Given the description of an element on the screen output the (x, y) to click on. 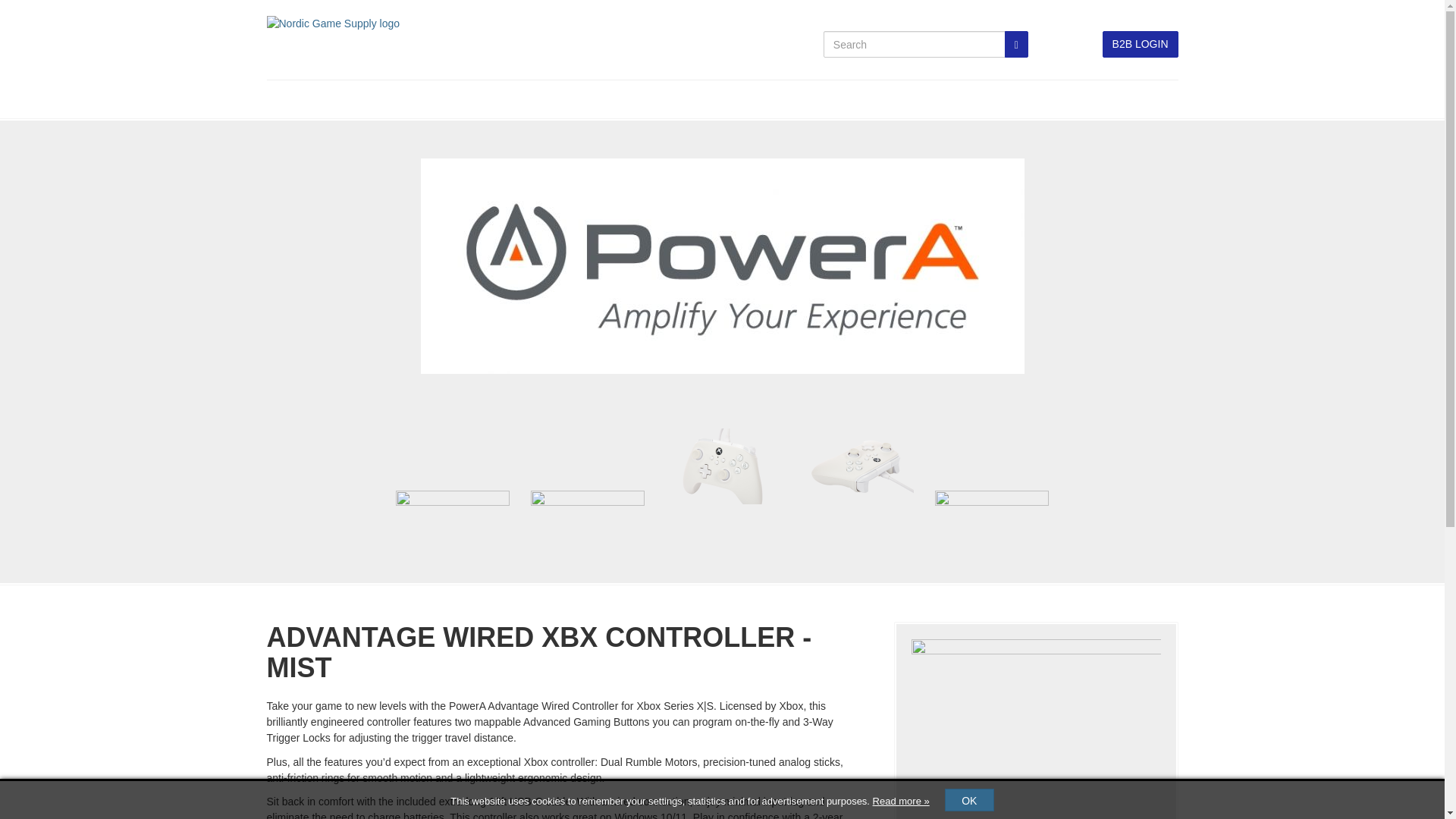
Home (281, 99)
Follow Nordic Game Supply on Facebook (1081, 43)
Enter the terms you wish to search for. (915, 44)
B2B LOGIN (1139, 44)
Nordic Game Supply on LinkedIn (1049, 43)
Nordic Game Supply (333, 22)
